Given the description of an element on the screen output the (x, y) to click on. 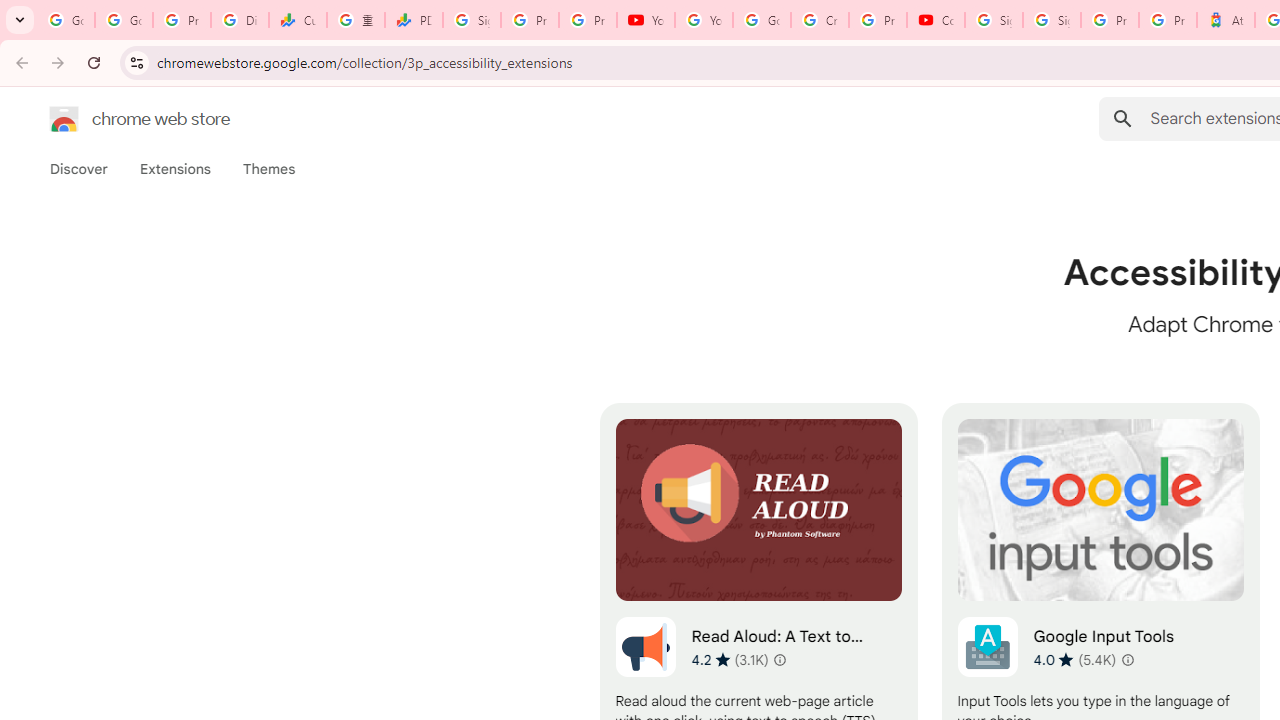
Chrome Web Store logo (63, 118)
Chrome Web Store logo chrome web store (118, 118)
Sign in - Google Accounts (1051, 20)
YouTube (703, 20)
Average rating 4.2 out of 5 stars. 3.1K ratings. (730, 659)
Themes (269, 169)
Average rating 4.0 out of 5 stars. 5.4K ratings. (1074, 659)
Google Account Help (762, 20)
Currencies - Google Finance (297, 20)
